Given the description of an element on the screen output the (x, y) to click on. 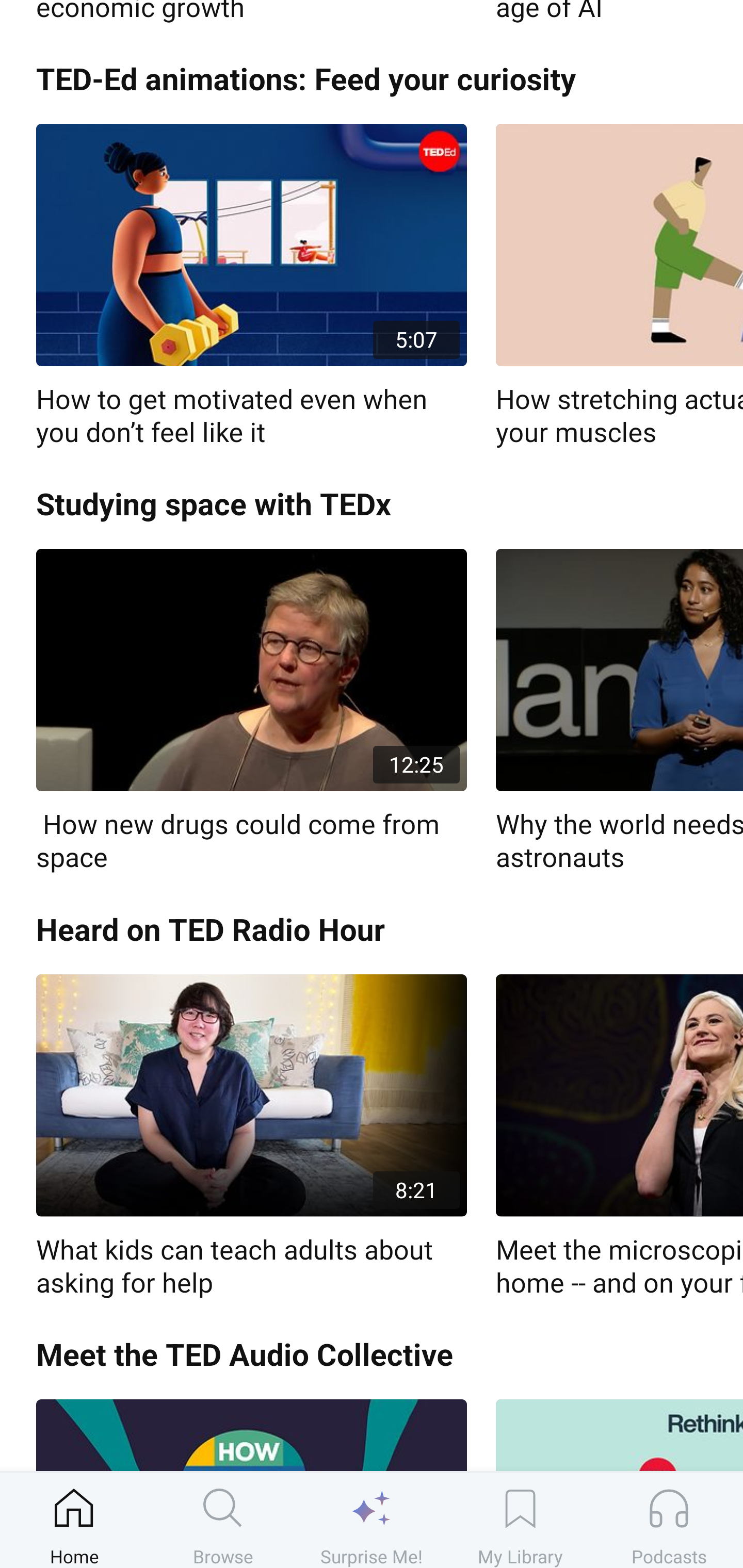
How stretching actually changes your muscles (619, 286)
12:25  How new drugs could come from space (251, 711)
Why the world needs more astronauts (619, 711)
Home (74, 1520)
Browse (222, 1520)
Surprise Me! (371, 1520)
My Library (519, 1520)
Podcasts (668, 1520)
